Given the description of an element on the screen output the (x, y) to click on. 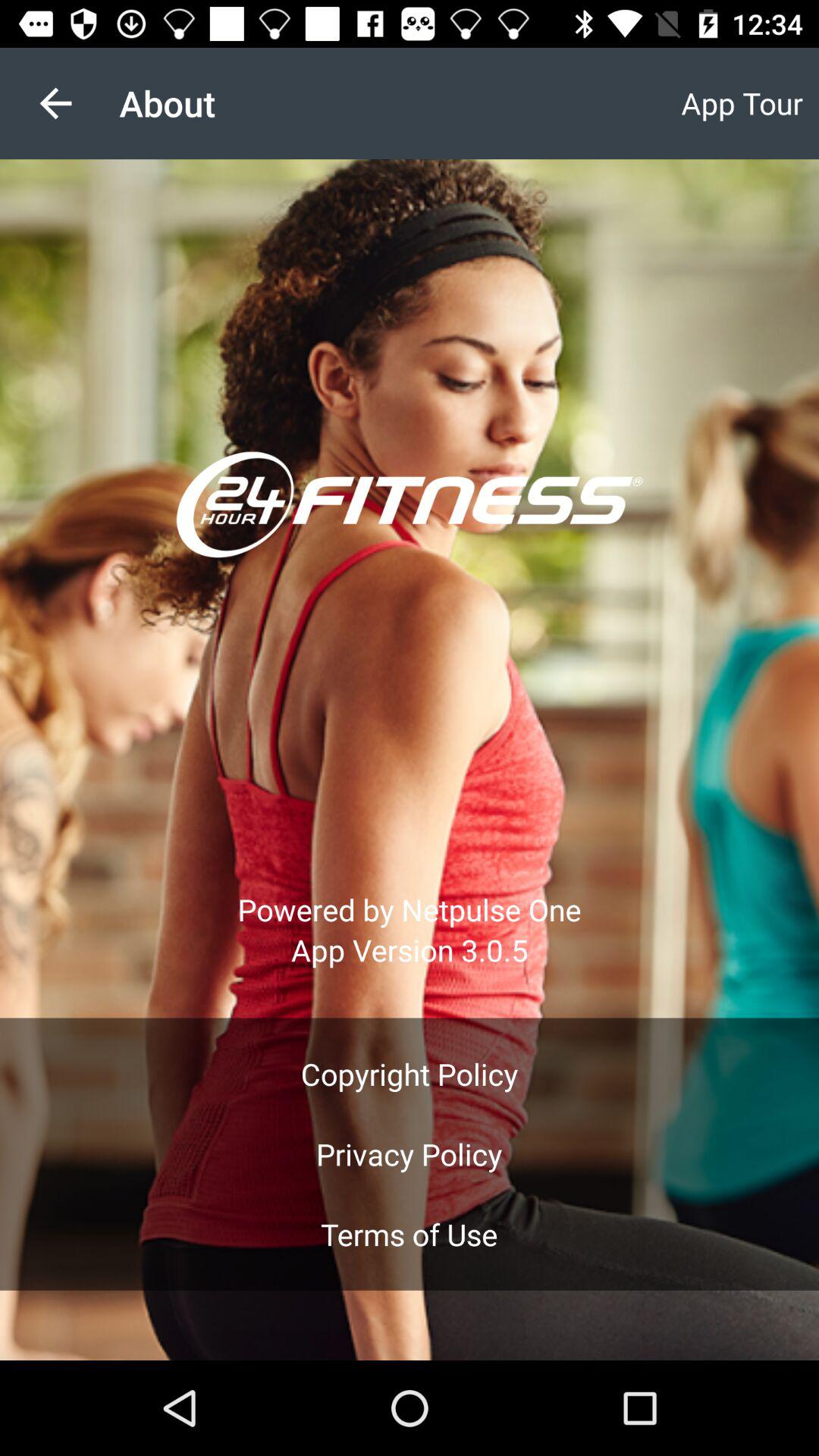
tap the terms of use item (408, 1234)
